Given the description of an element on the screen output the (x, y) to click on. 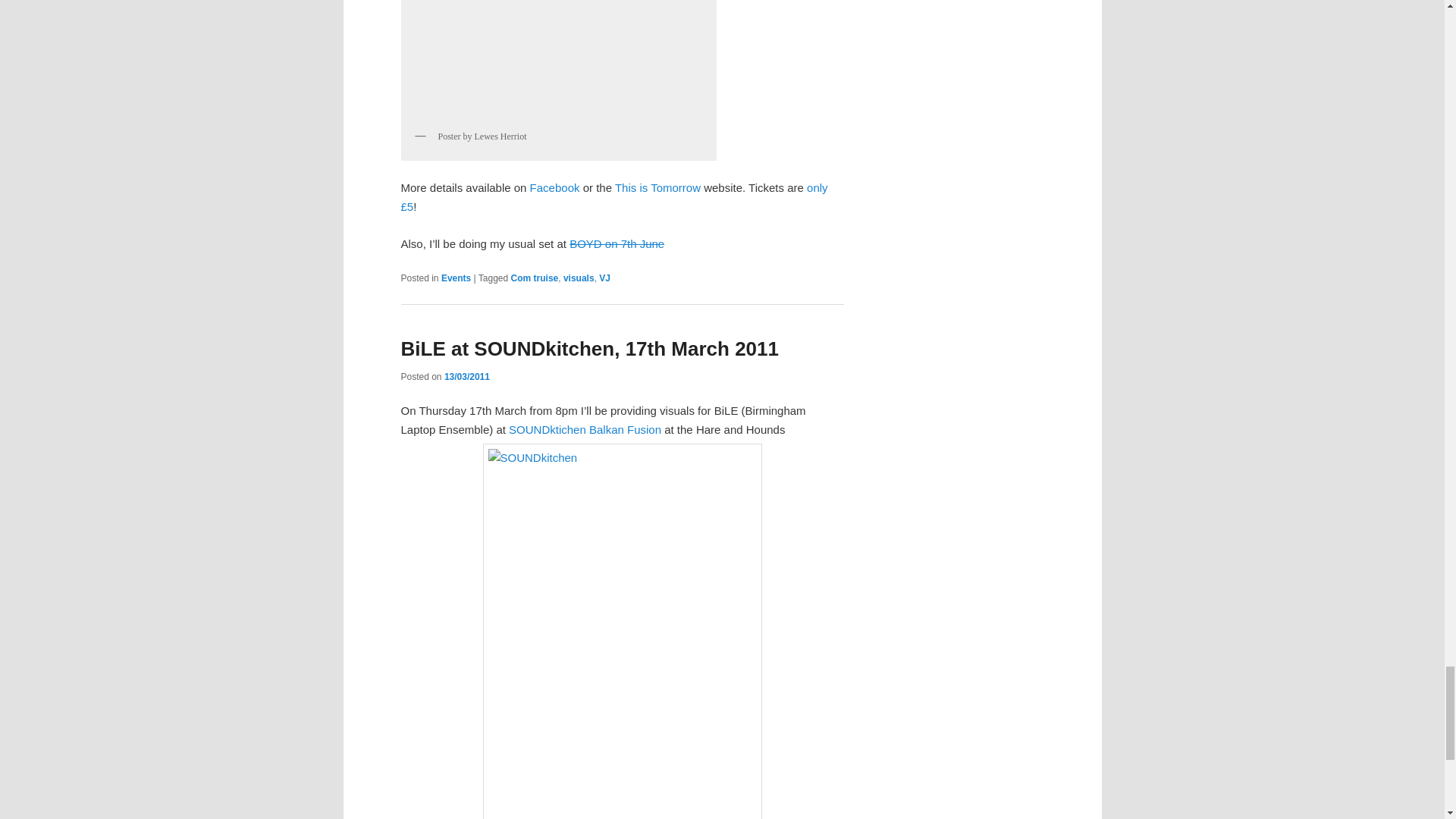
16:37 (466, 376)
Com Truise by hellocatfood, on Flickr (558, 61)
